Given the description of an element on the screen output the (x, y) to click on. 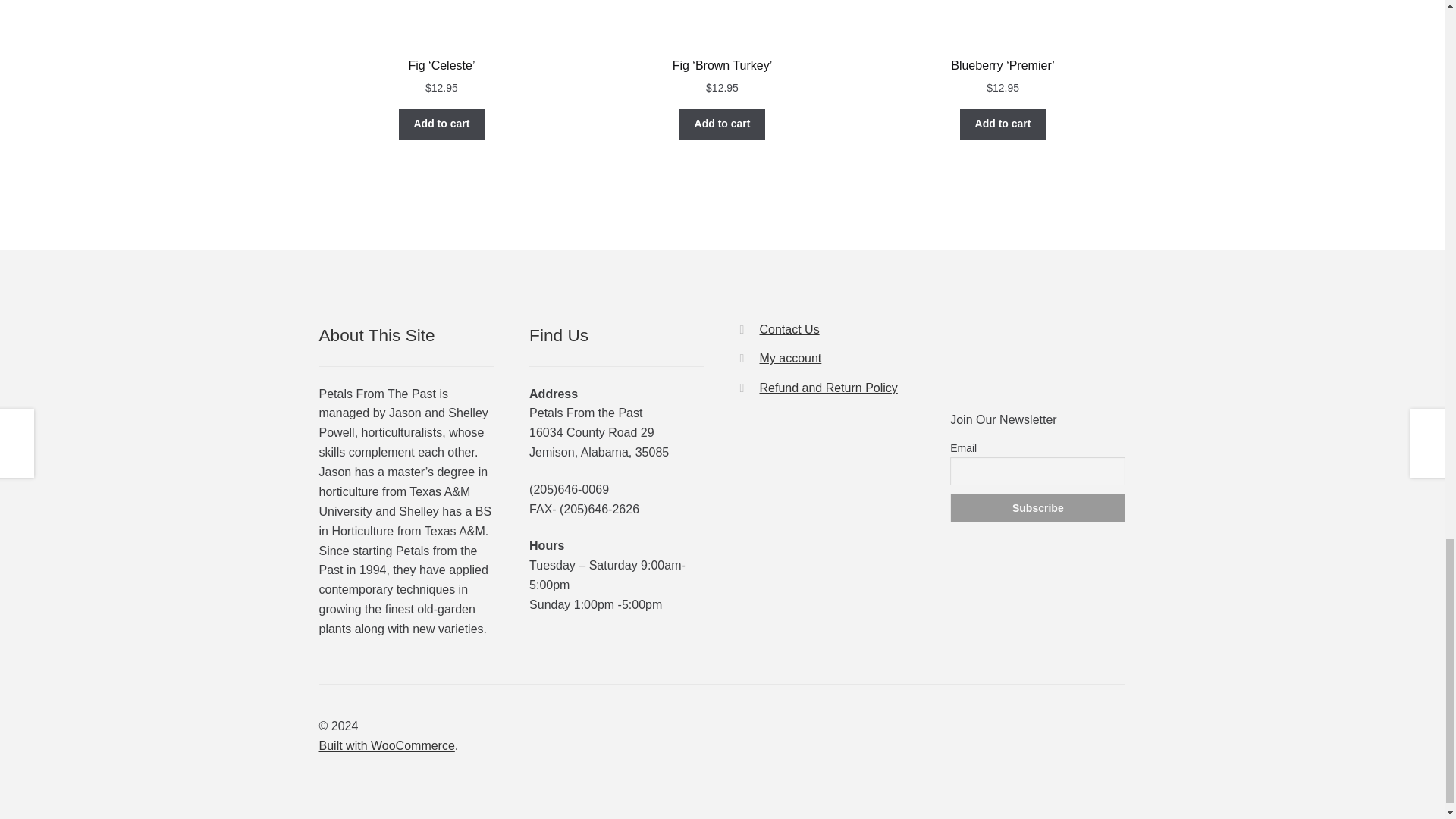
WooCommerce - The Best eCommerce Platform for WordPress (386, 745)
Subscribe (1037, 507)
